Given the description of an element on the screen output the (x, y) to click on. 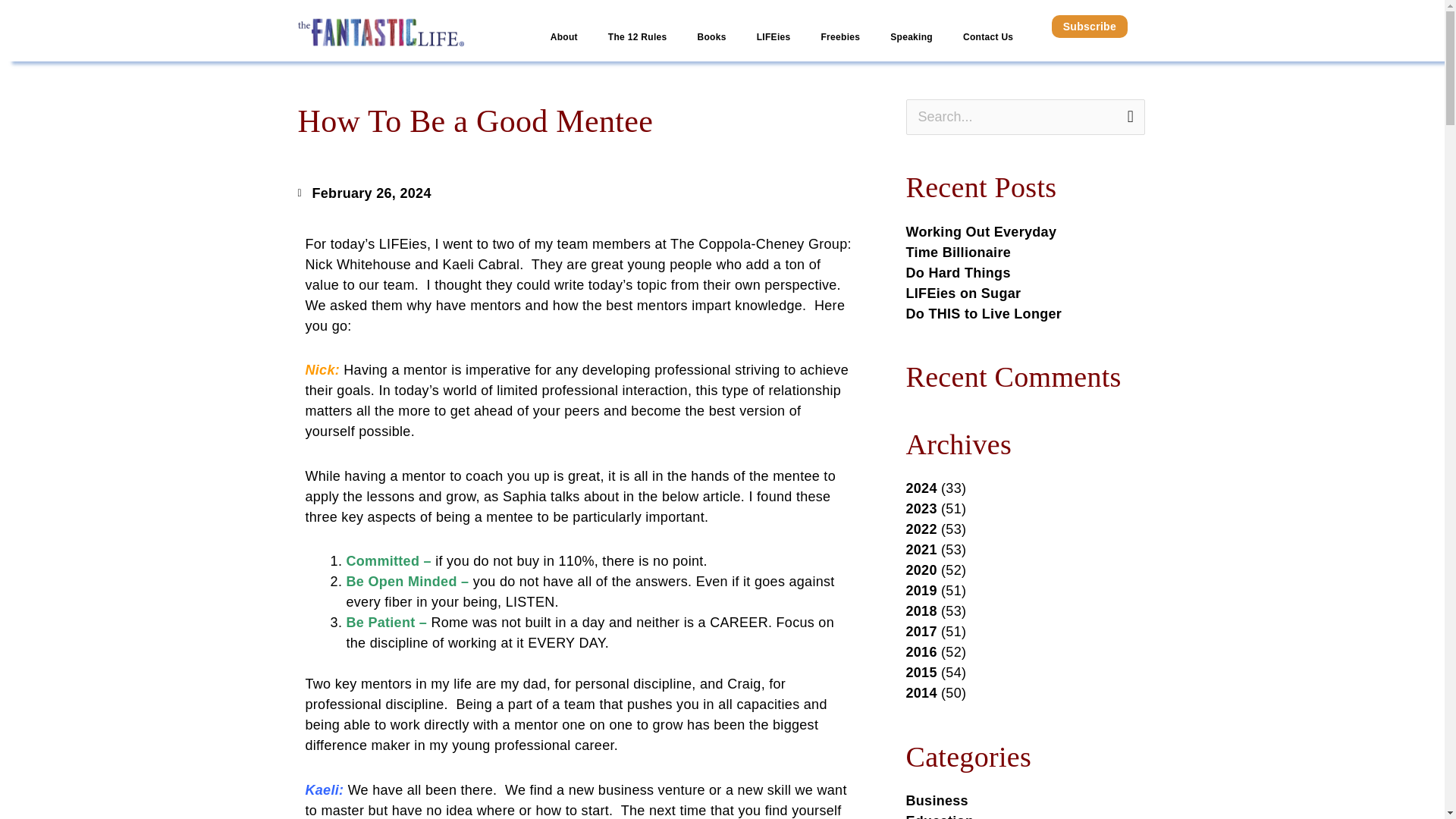
Freebies (840, 37)
The 12 Rules (637, 37)
Contact Us (987, 37)
Books (711, 37)
LIFEies (773, 37)
About (563, 37)
Speaking (911, 37)
